Given the description of an element on the screen output the (x, y) to click on. 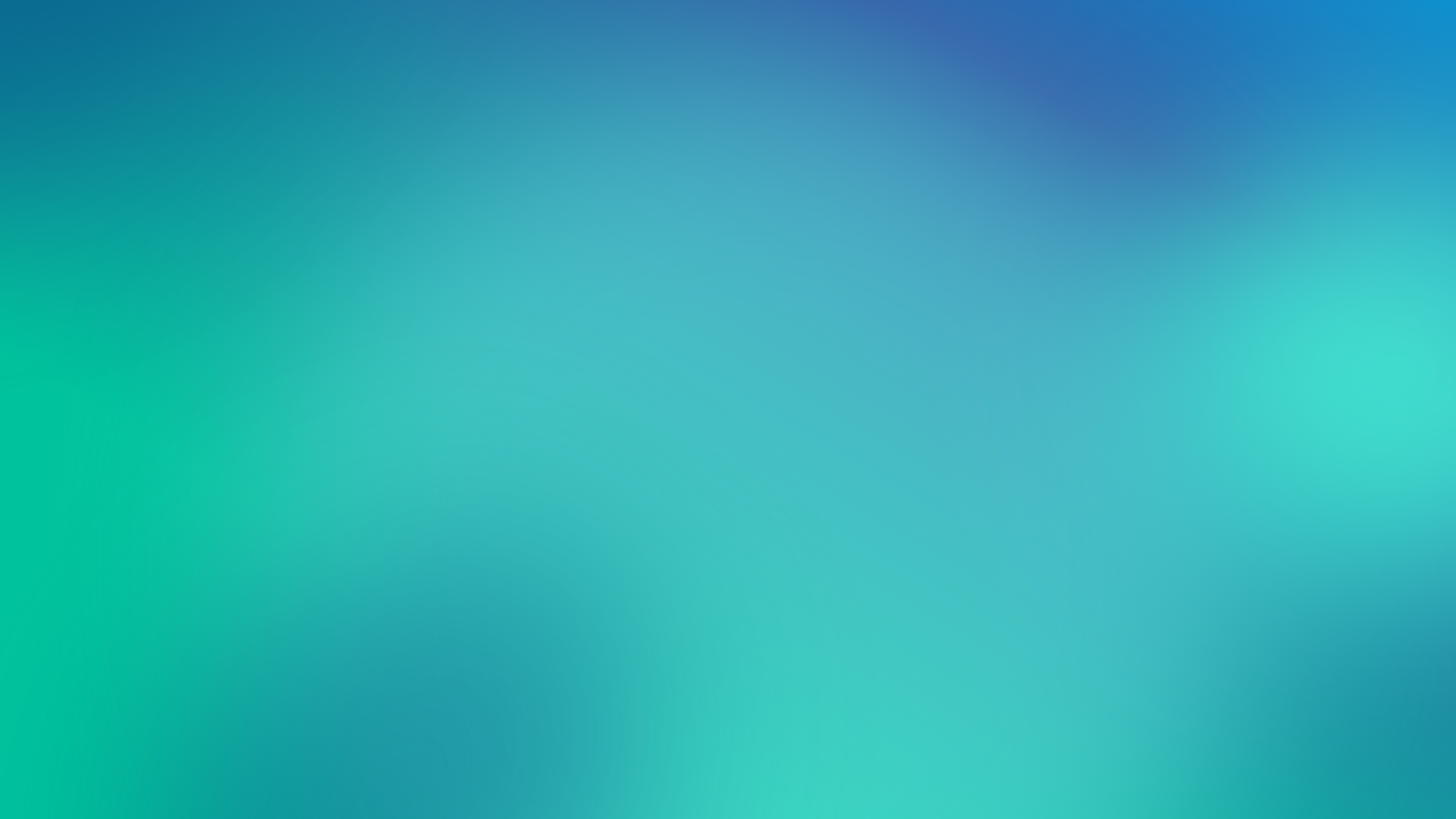
Search (1349, 191)
